Given the description of an element on the screen output the (x, y) to click on. 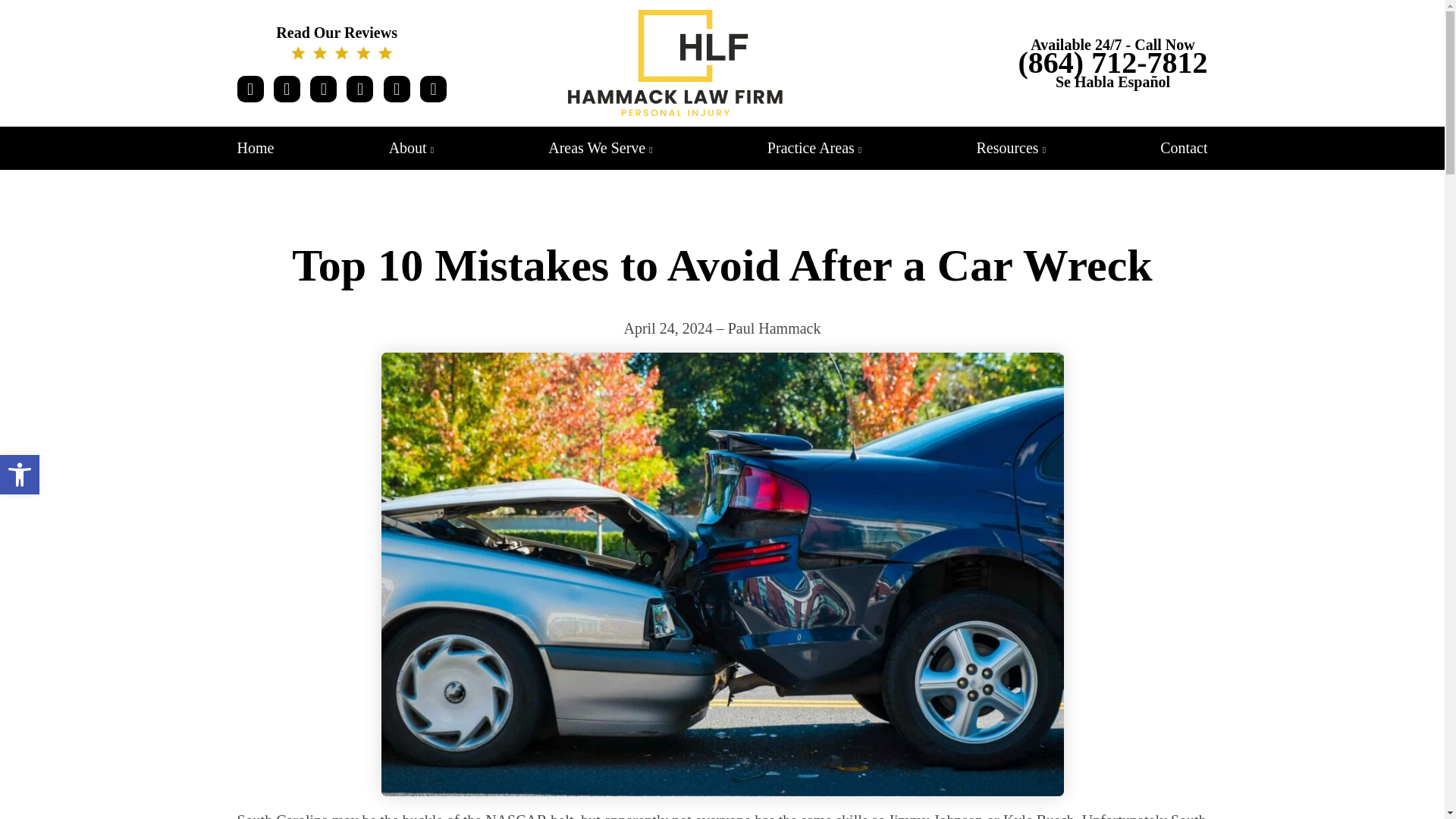
Read Our Reviews (19, 474)
Home (340, 41)
Accessibility Tools (254, 147)
Read Our Reviews (19, 474)
Accessibility Tools (340, 41)
About (19, 474)
Areas We Serve (410, 147)
